Given the description of an element on the screen output the (x, y) to click on. 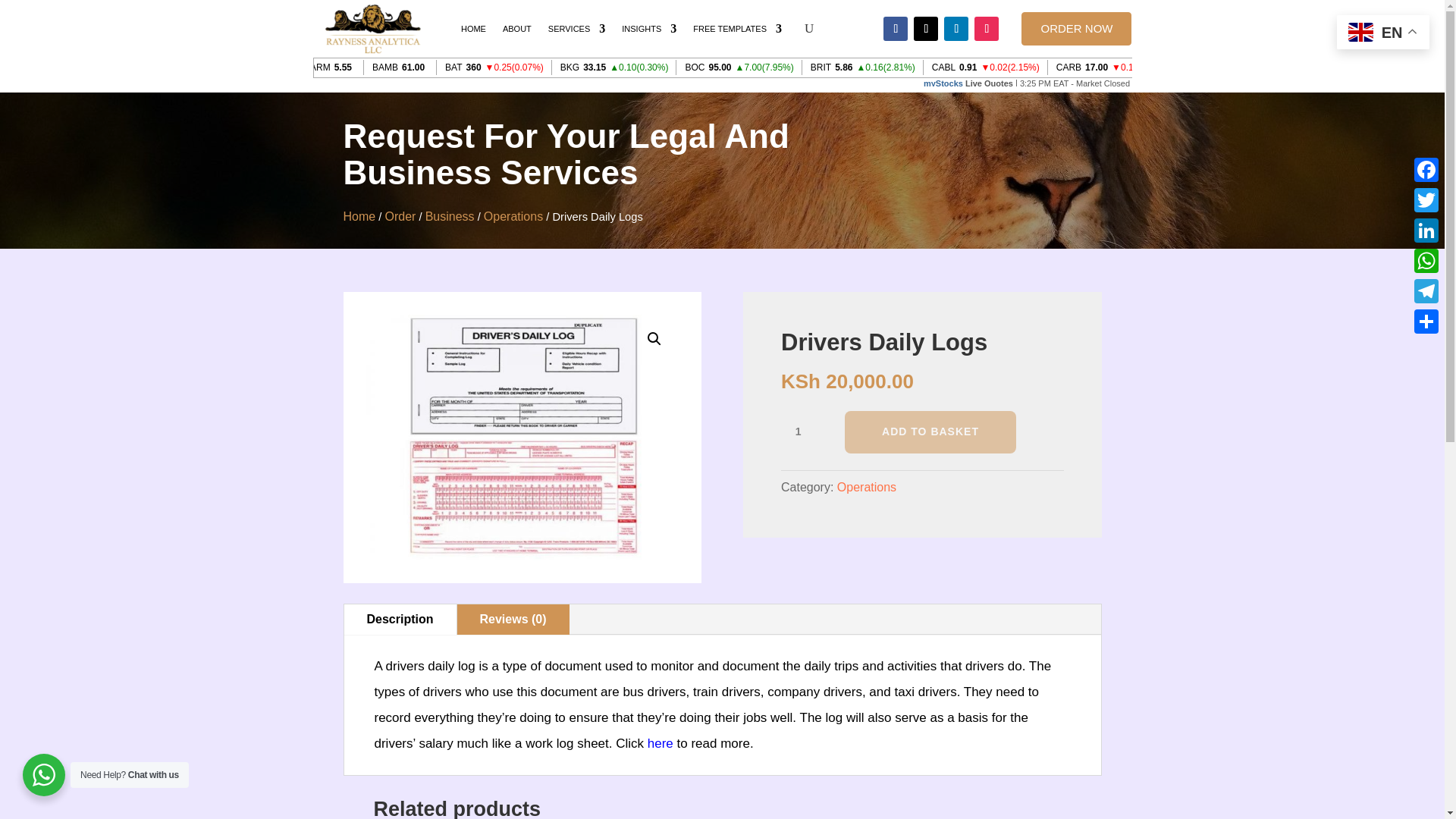
SERVICES (576, 28)
1 (803, 432)
Follow on Instagram (986, 28)
Follow on Facebook (895, 28)
Follow on LinkedIn (955, 28)
INSIGHTS (649, 28)
FREE TEMPLATES (737, 28)
Follow on X (925, 28)
